Given the description of an element on the screen output the (x, y) to click on. 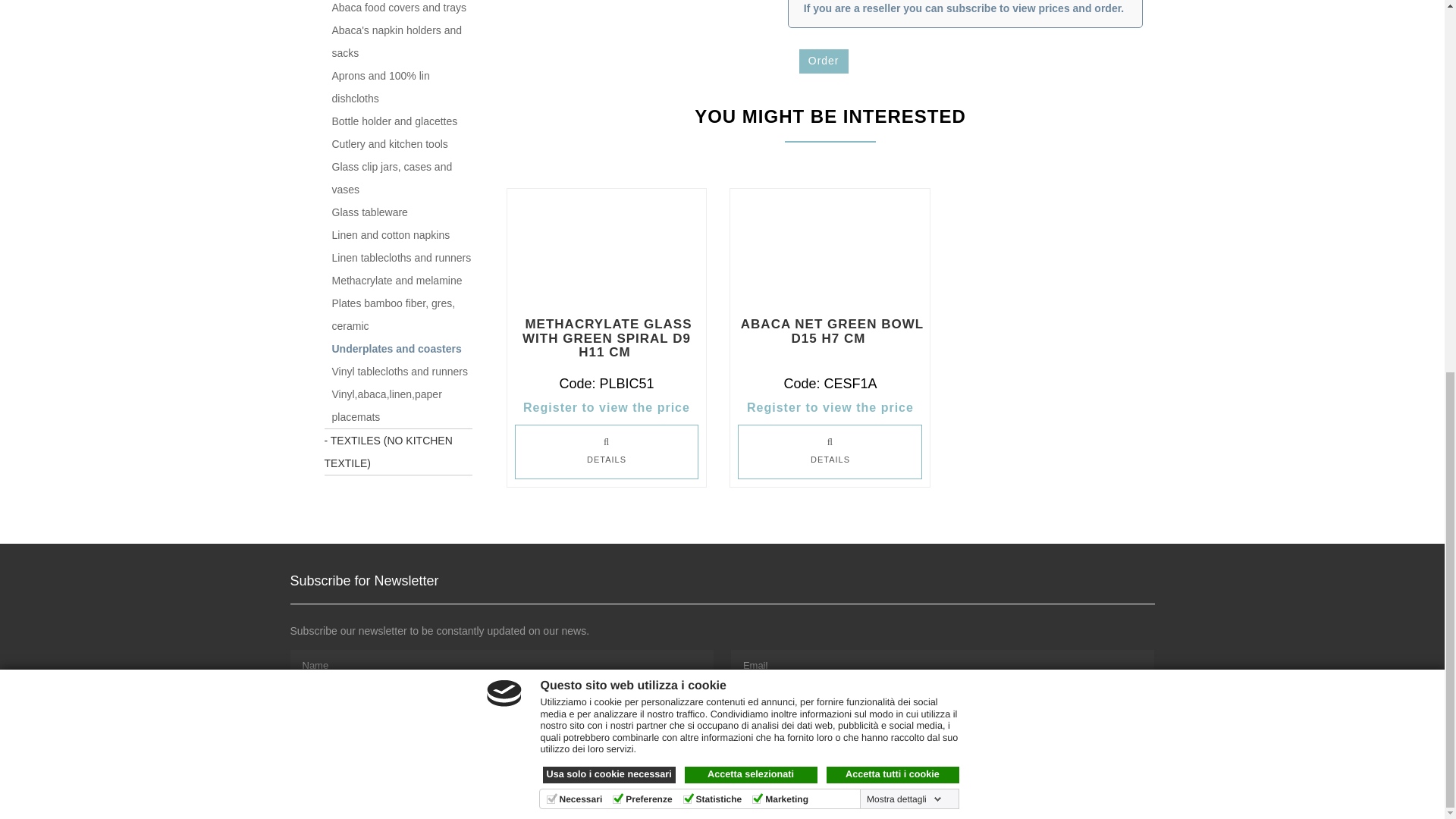
Accetta selezionati (750, 95)
Accetta tutti i cookie (893, 95)
Usa solo i cookie necessari (609, 95)
Mostra dettagli (903, 119)
